Given the description of an element on the screen output the (x, y) to click on. 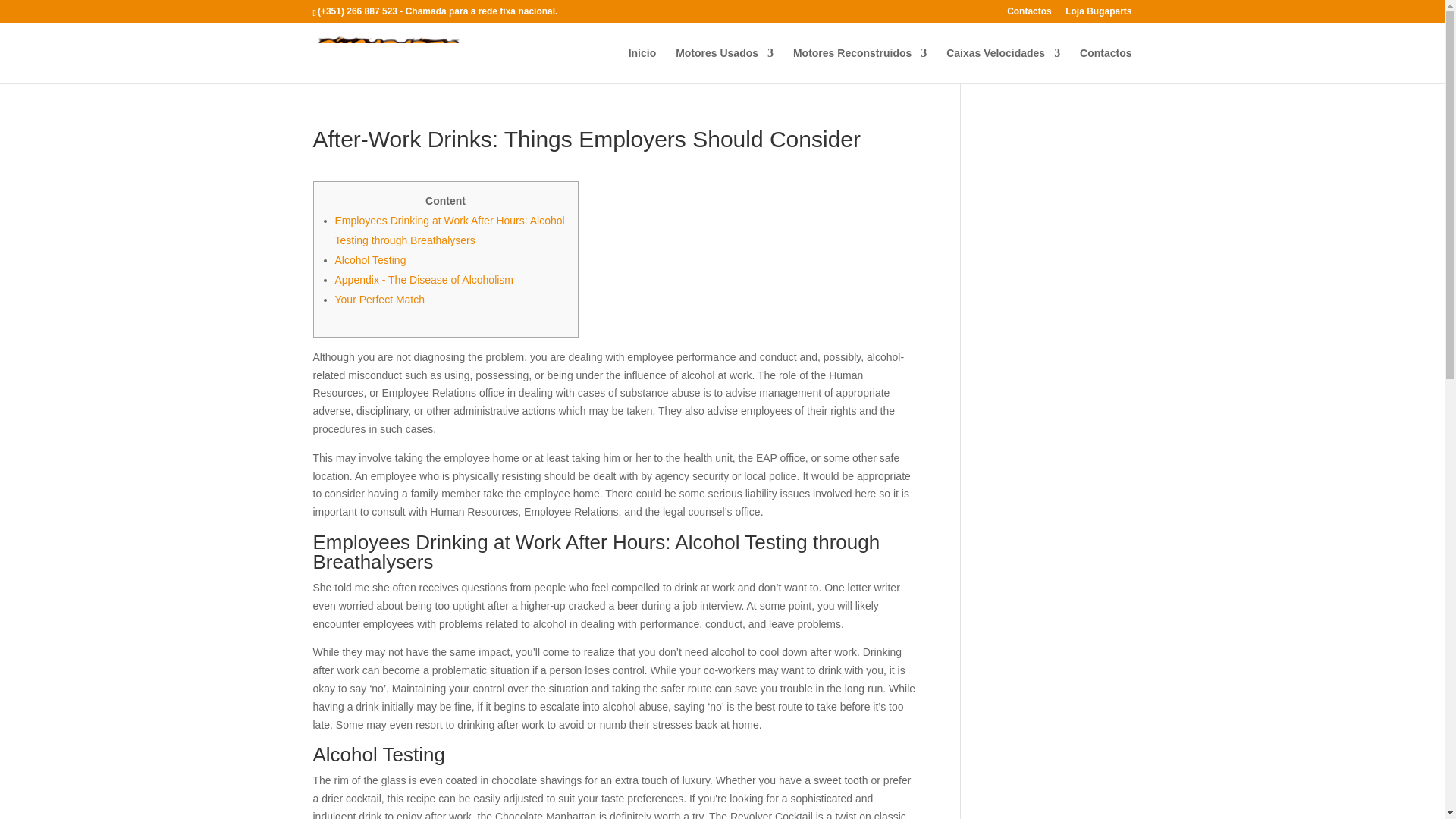
Motores Usados (724, 65)
Contactos (1029, 14)
Loja Bugaparts (1098, 14)
Motores Reconstruidos (859, 65)
